Given the description of an element on the screen output the (x, y) to click on. 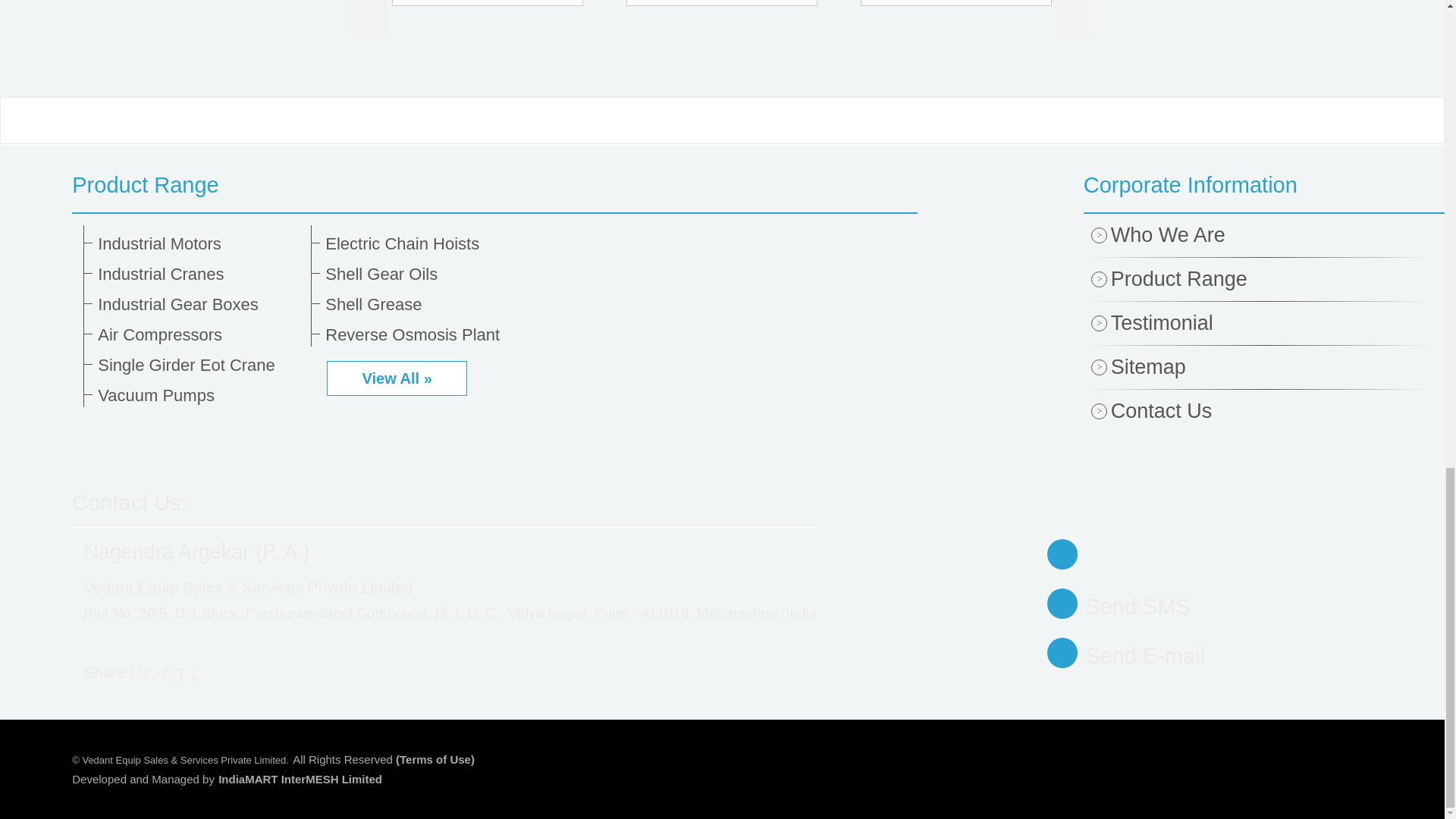
Product Range (494, 185)
Shell Grease (426, 304)
Contact Us: (129, 502)
Industrial Cranes (198, 274)
Industrial Motors (198, 244)
Electric Chain Hoists (426, 244)
Reverse Osmosis Plant (426, 334)
Air Compressors (198, 334)
Single Girder Eot Crane (198, 365)
Shell Gear Oils (426, 274)
